Given the description of an element on the screen output the (x, y) to click on. 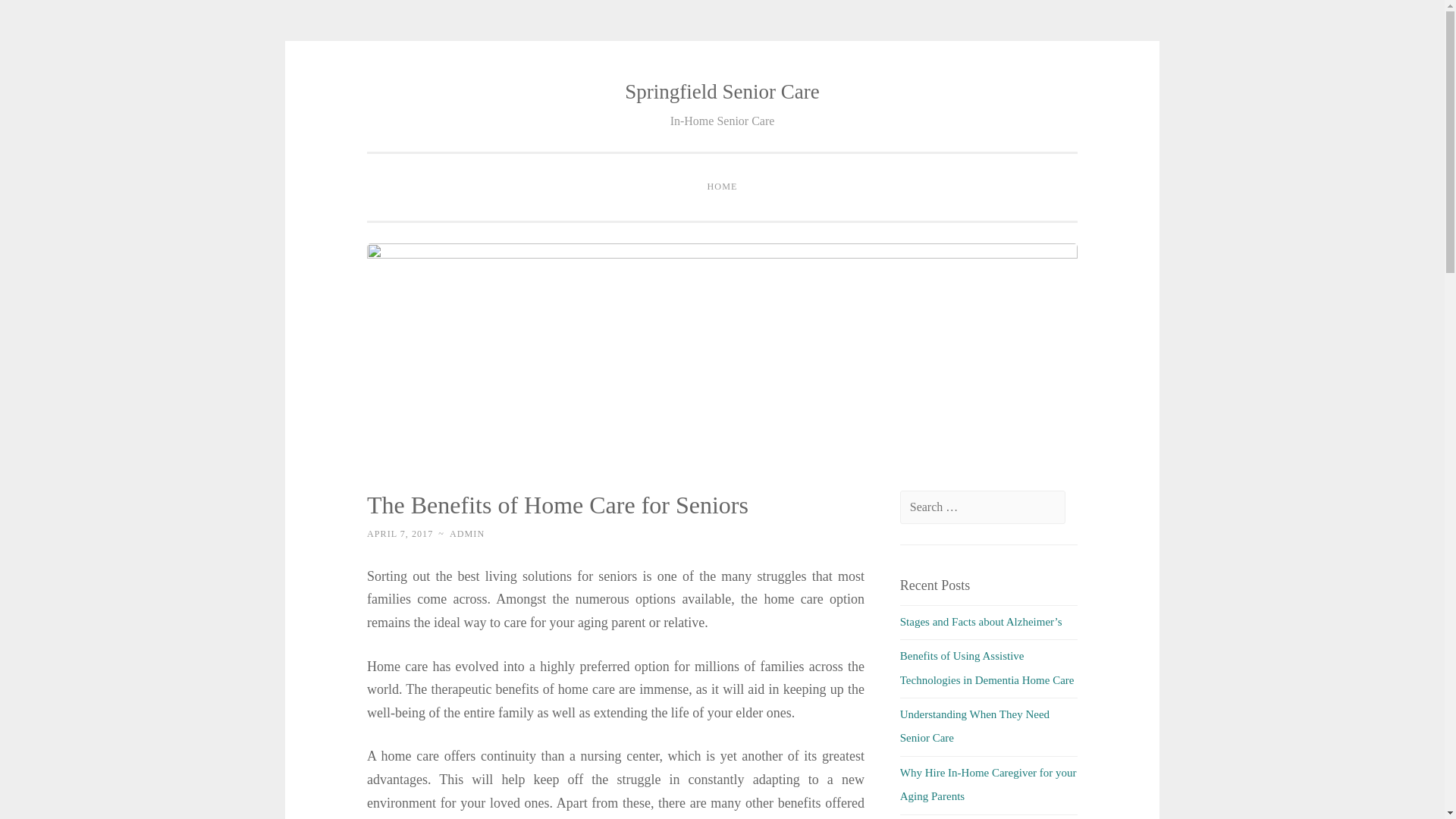
Springfield Senior Care (721, 91)
Why Hire In-Home Caregiver for your Aging Parents (988, 784)
Search (39, 16)
Skip to content (400, 91)
Understanding When They Need Senior Care (974, 725)
APRIL 7, 2017 (399, 533)
ADMIN (466, 533)
HOME (722, 186)
